Given the description of an element on the screen output the (x, y) to click on. 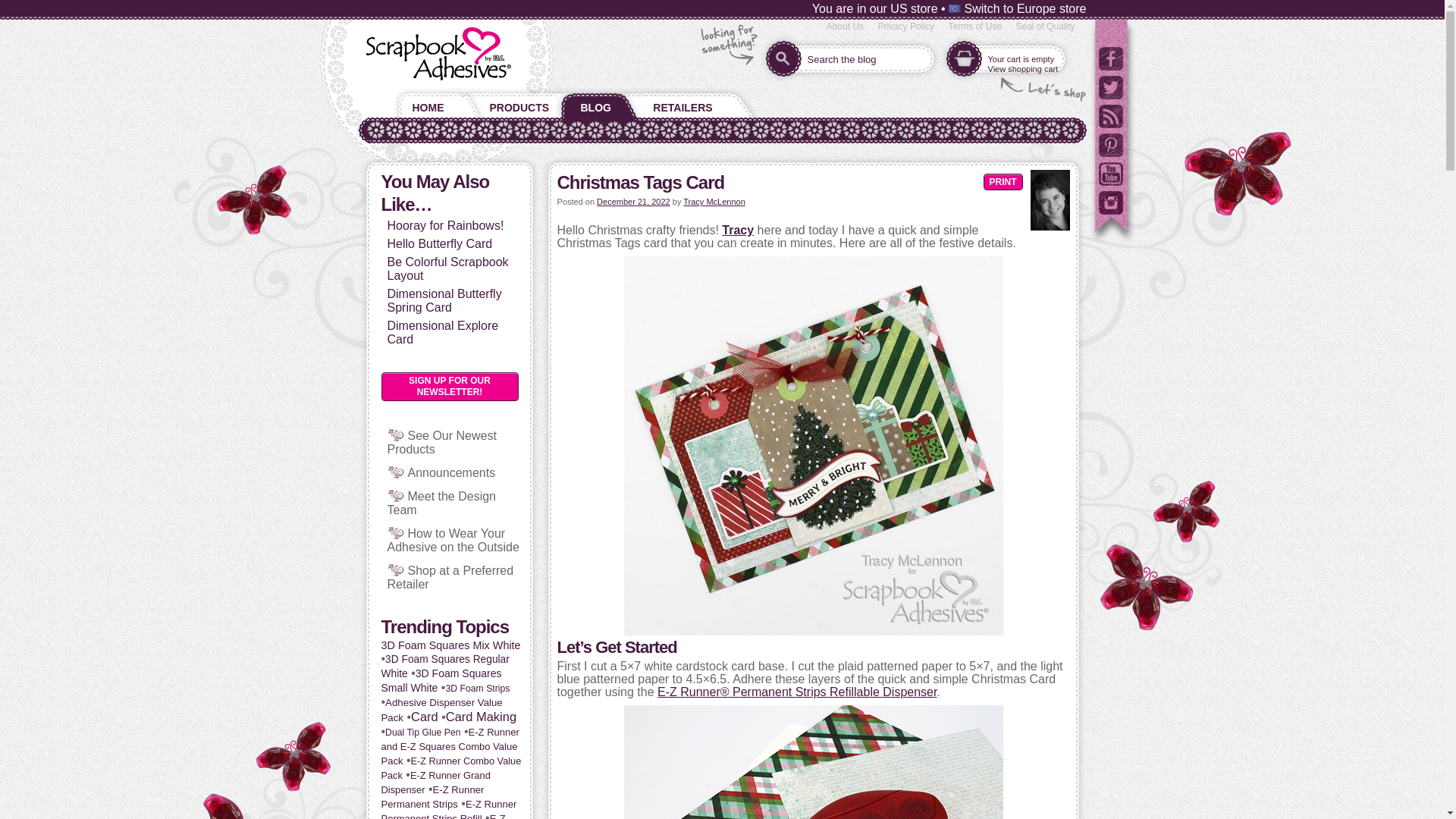
About Us (845, 26)
View shopping cart (1022, 68)
54 topics (424, 716)
Announcements (451, 472)
27 topics (448, 808)
3D Foam Squares Regular White (444, 666)
SIGN UP FOR OUR NEWSLETTER! (449, 386)
21 topics (477, 688)
Terms of Use (974, 26)
Seal of Quality (1044, 26)
Card Making (480, 716)
Shop at a Preferred Retailer (450, 577)
Card (424, 716)
HOME (425, 104)
Be Colorful Scrapbook Layout (447, 268)
